Given the description of an element on the screen output the (x, y) to click on. 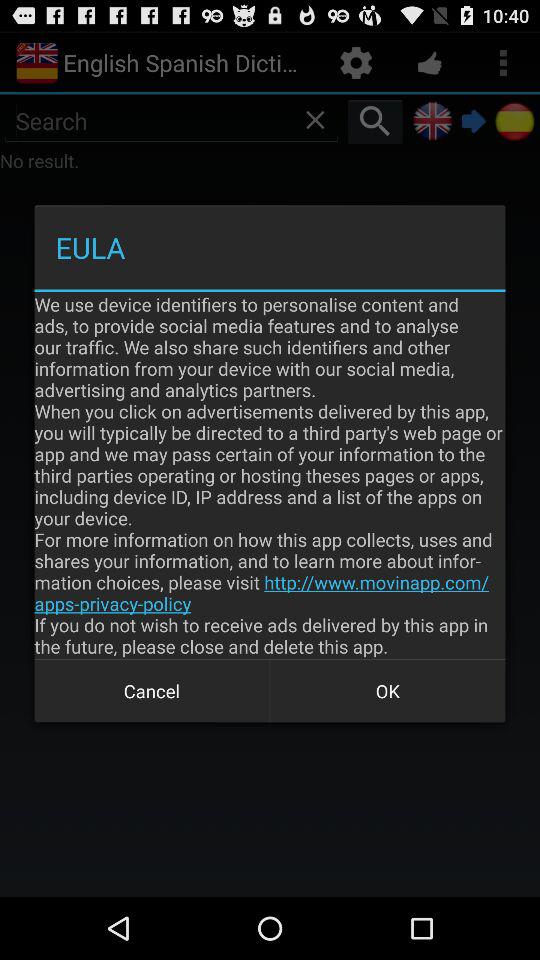
select we use device app (269, 475)
